Given the description of an element on the screen output the (x, y) to click on. 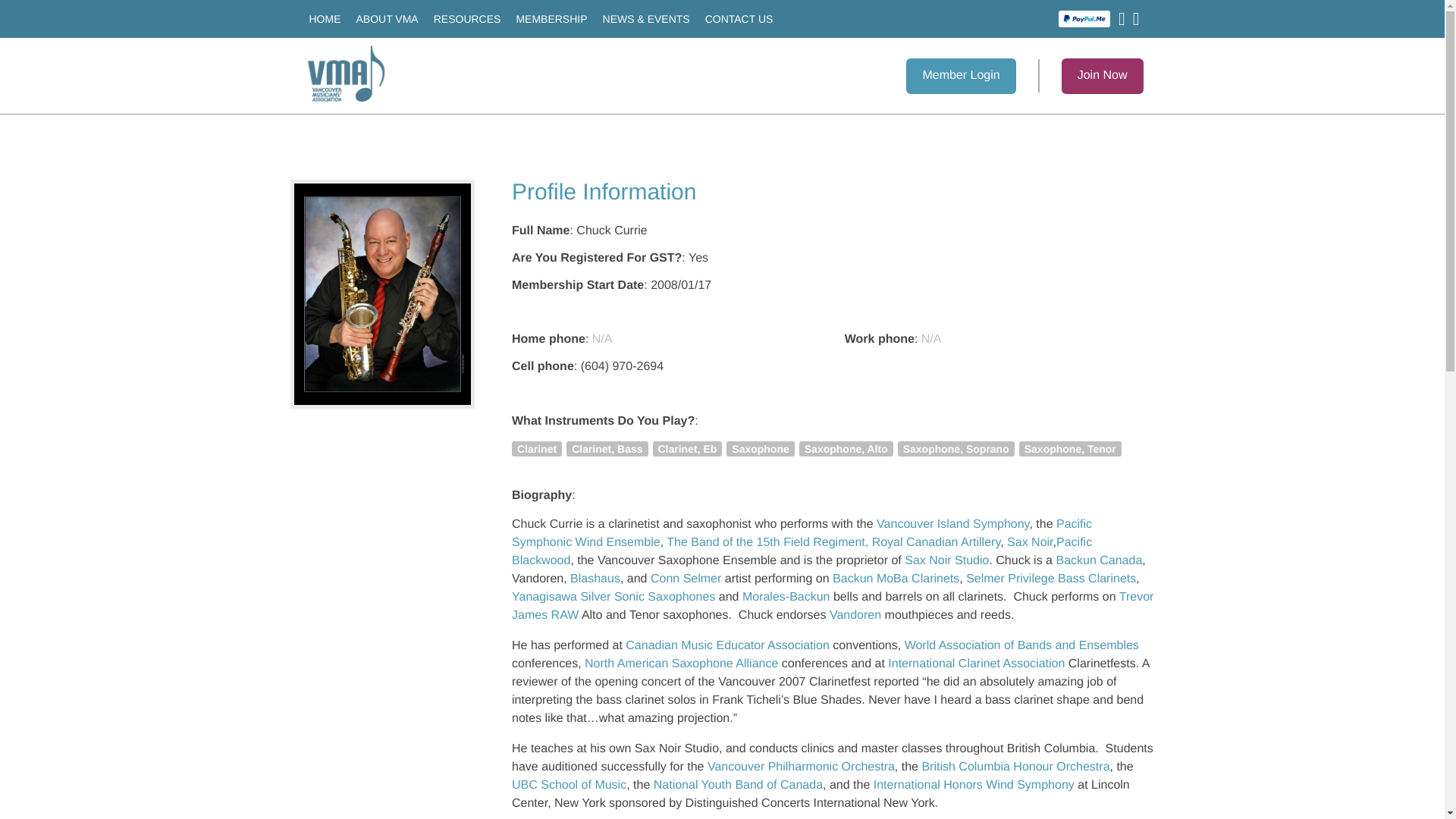
ABOUT VMA (387, 18)
translation missing: en.musicians.profile.yes (697, 257)
HOME (325, 18)
CONTACT US (738, 18)
Member Login (959, 75)
Join Now (1101, 75)
RESOURCES (467, 18)
MEMBERSHIP (551, 18)
